Given the description of an element on the screen output the (x, y) to click on. 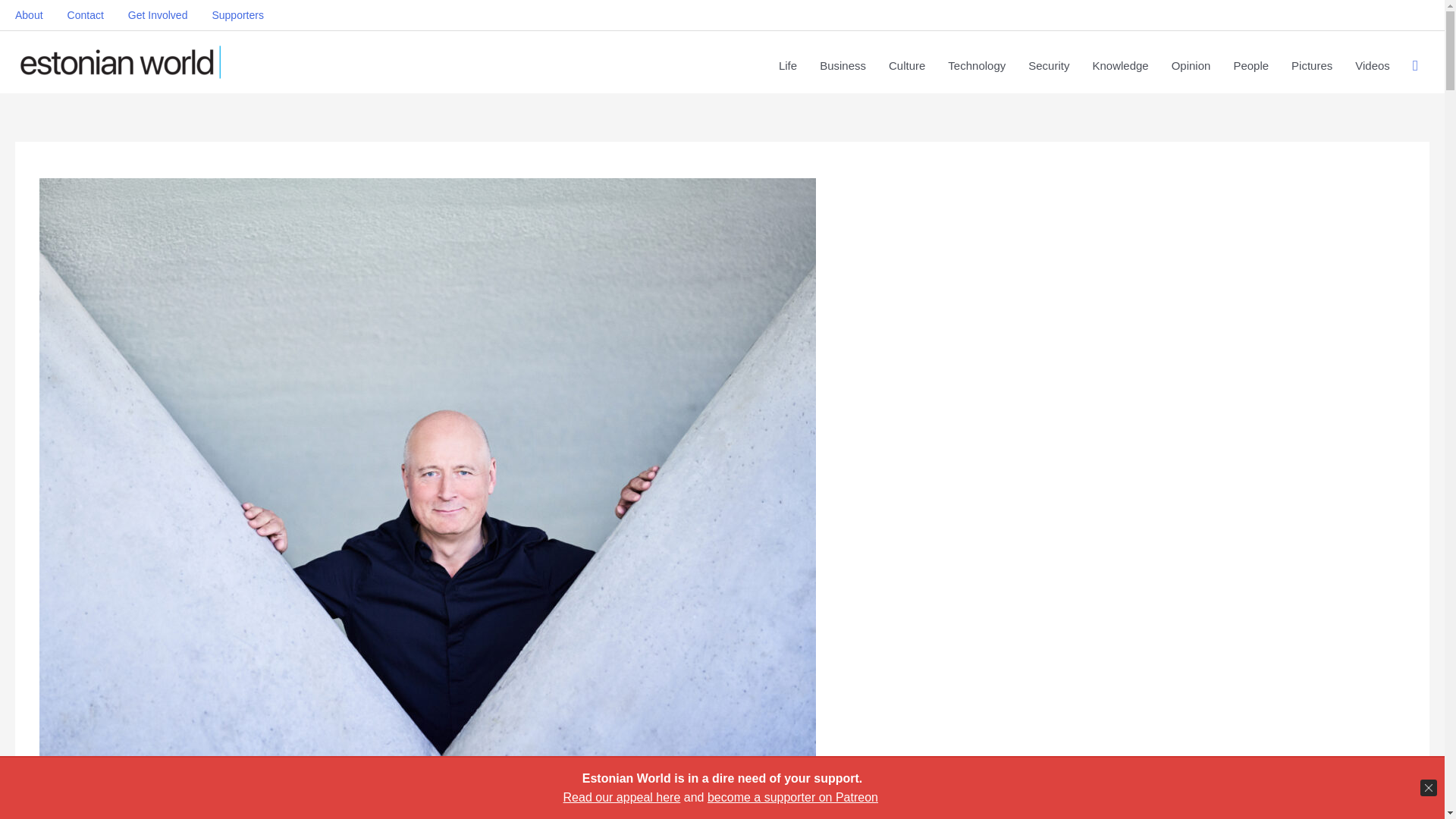
Get Involved (158, 15)
Life (787, 65)
Contact (85, 15)
People (1250, 65)
Culture (906, 65)
Security (1048, 65)
Videos (1371, 65)
Pictures (1311, 65)
Supporters (237, 15)
Knowledge (1119, 65)
About (34, 15)
Business (842, 65)
Opinion (1191, 65)
Technology (976, 65)
